Given the description of an element on the screen output the (x, y) to click on. 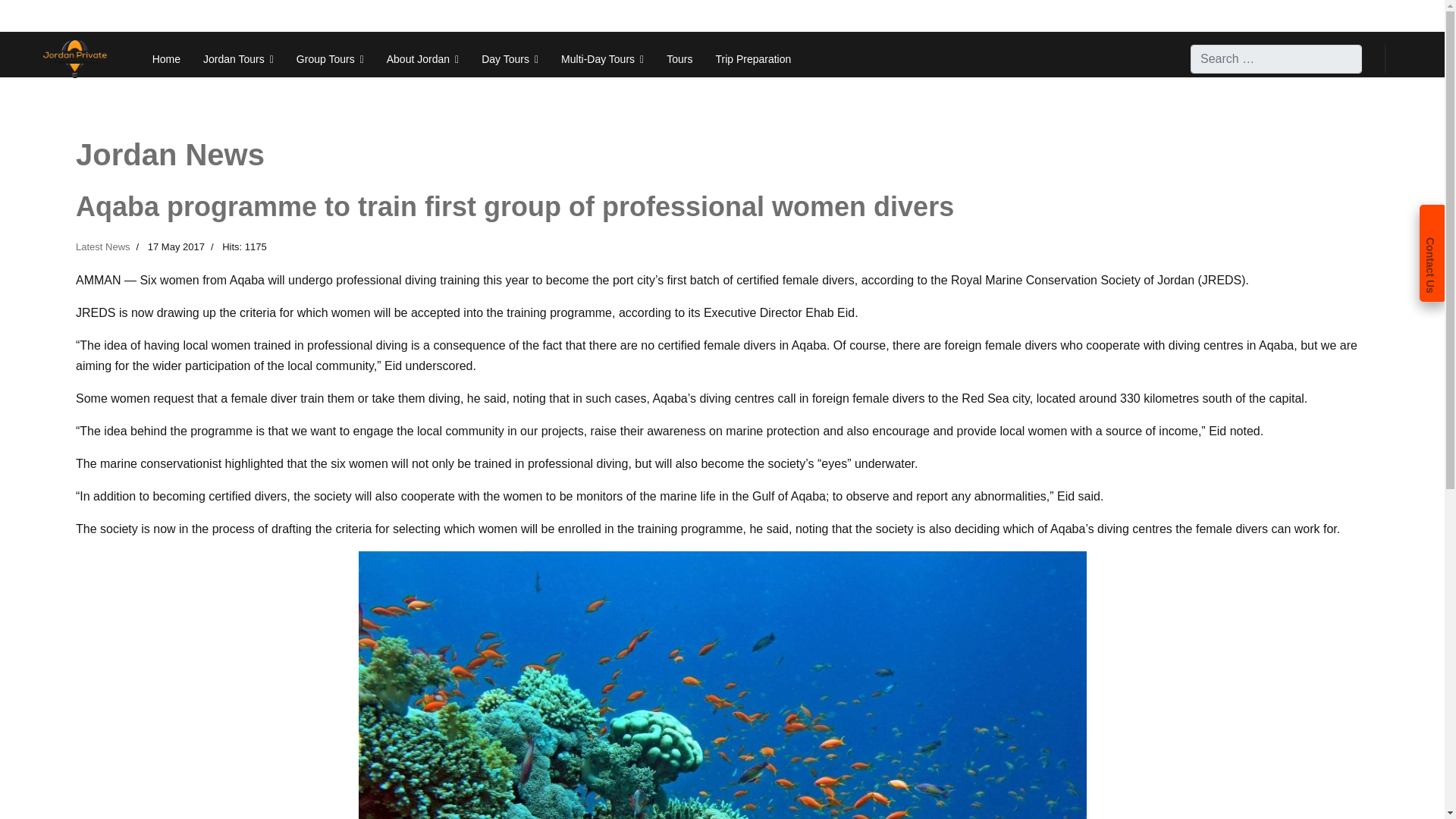
About Jordan (422, 59)
Jordan Tours (238, 59)
Tours (679, 59)
Day Tours (510, 59)
Category: Latest News (103, 246)
Home (166, 59)
Group Tours (330, 59)
Multi-Day Tours (602, 59)
Published: 17 May 2017 (168, 246)
Trip Preparation (752, 59)
